Given the description of an element on the screen output the (x, y) to click on. 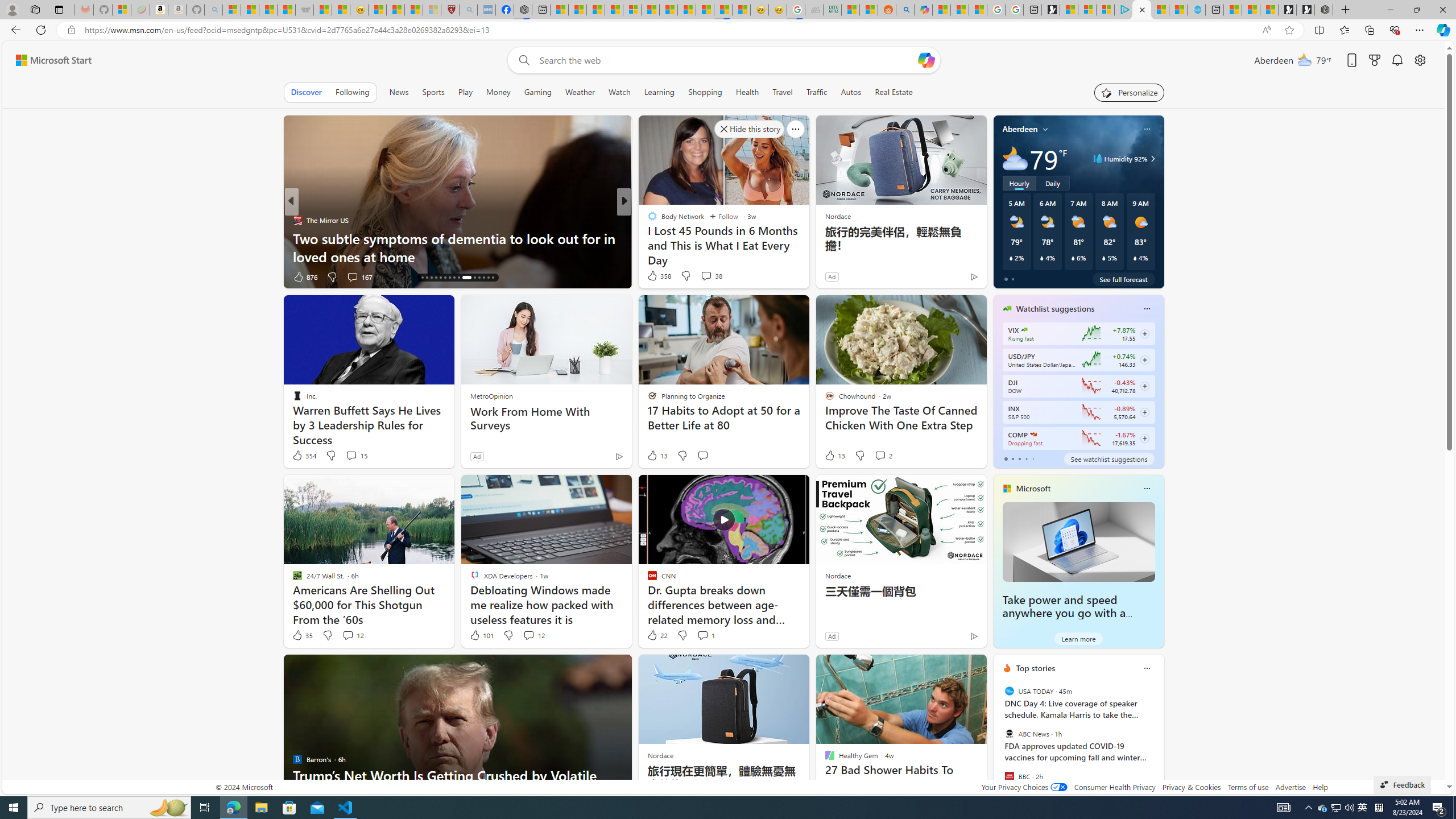
Following (352, 92)
Microsoft Copilot in Bing (923, 9)
Advertise (1290, 786)
tab-2 (1019, 458)
Help (1320, 786)
Web search (520, 60)
Following (352, 92)
Shopping (705, 92)
Top stories (1035, 668)
Follow (724, 216)
